Given the description of an element on the screen output the (x, y) to click on. 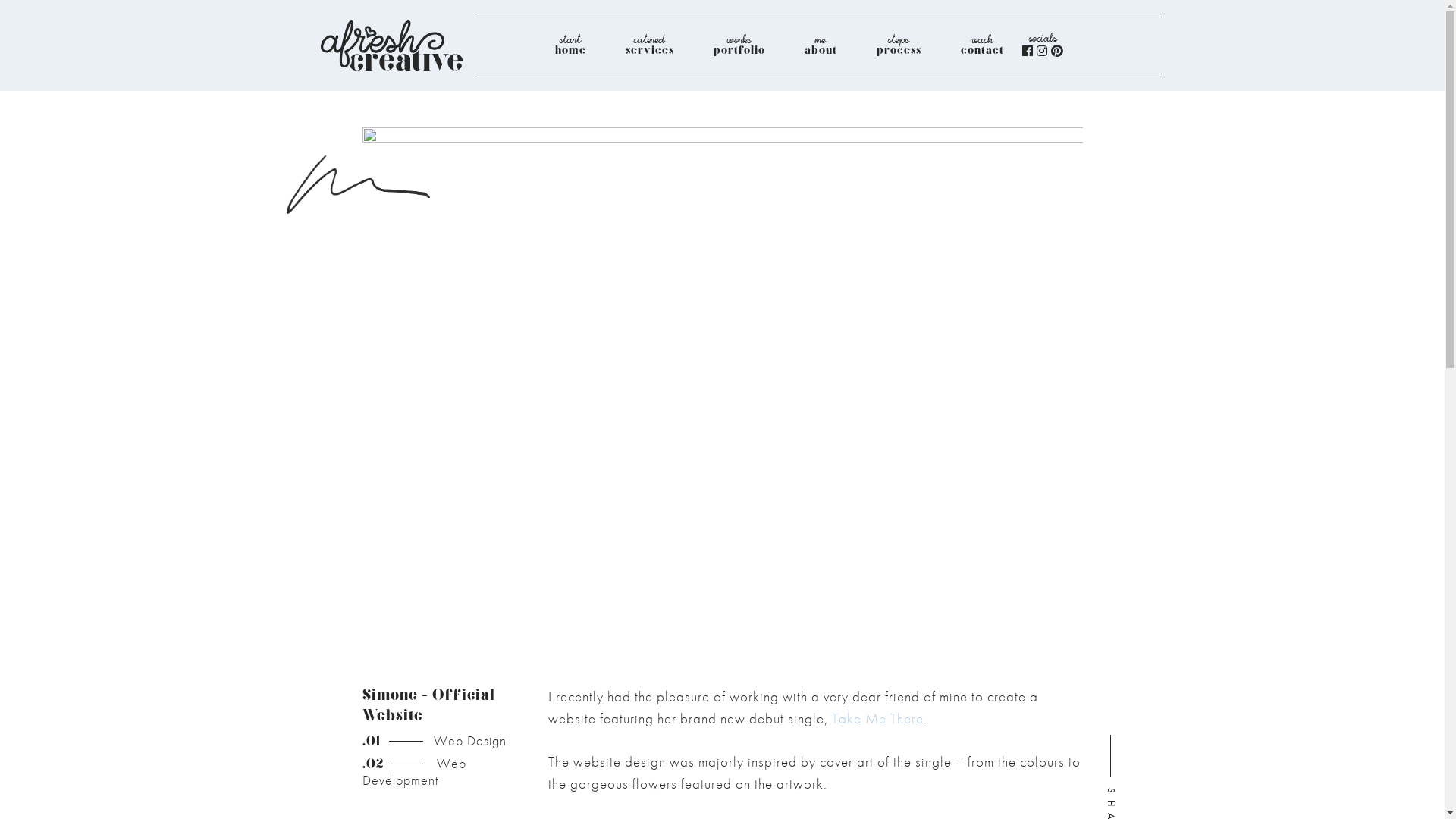
Take Me There Element type: text (876, 718)
ig Element type: text (1041, 49)
start
home Element type: text (570, 45)
me
about Element type: text (819, 45)
steps
process Element type: text (898, 45)
reach
contact Element type: text (981, 45)
pi Element type: text (1057, 49)
catered
services Element type: text (648, 45)
works
portfolio Element type: text (738, 45)
fb Element type: text (1027, 49)
